Given the description of an element on the screen output the (x, y) to click on. 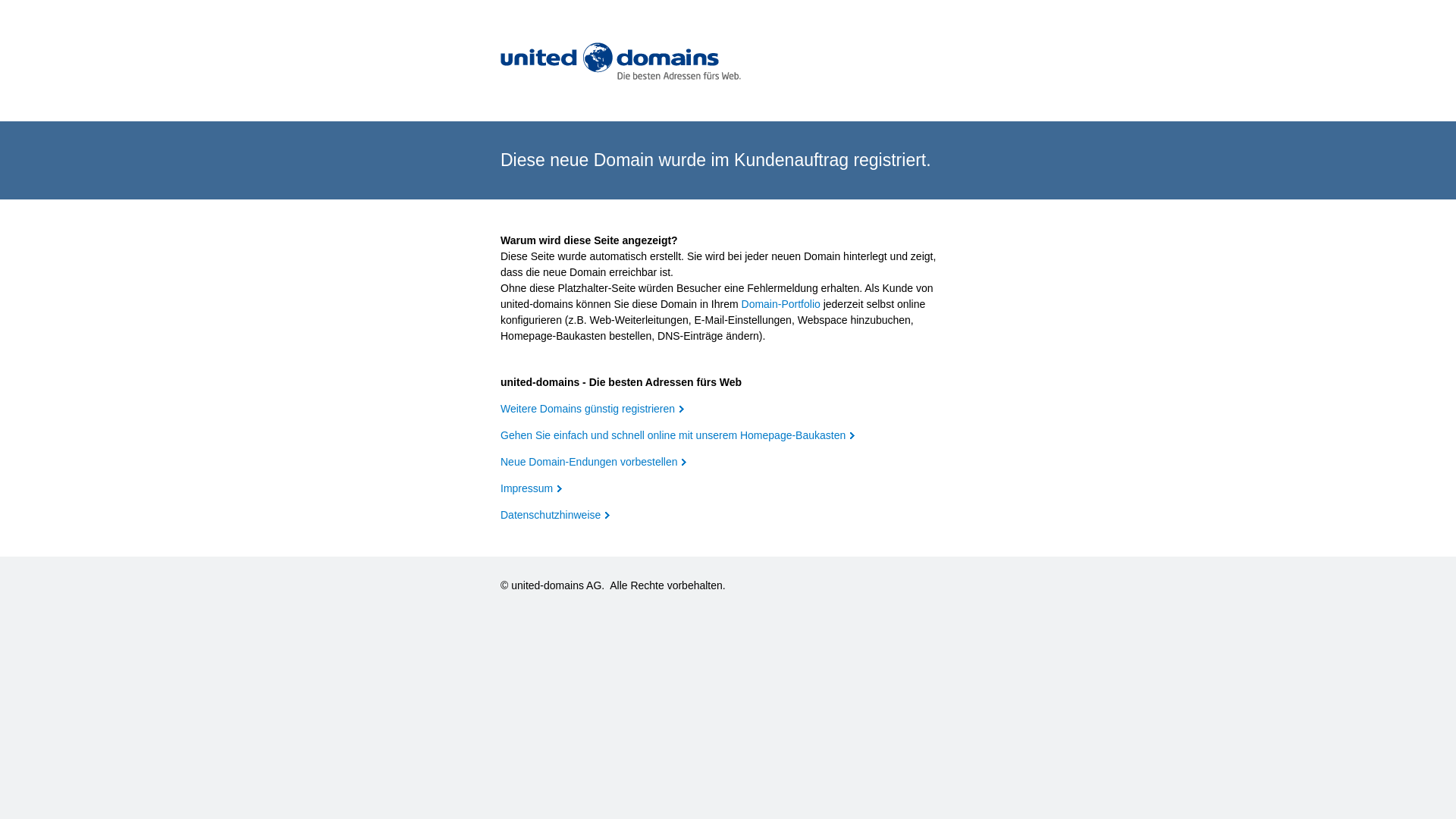
Datenschutzhinweise Element type: text (554, 514)
Impressum Element type: text (530, 488)
Domain-Portfolio Element type: text (780, 304)
Neue Domain-Endungen vorbestellen Element type: text (593, 461)
